Given the description of an element on the screen output the (x, y) to click on. 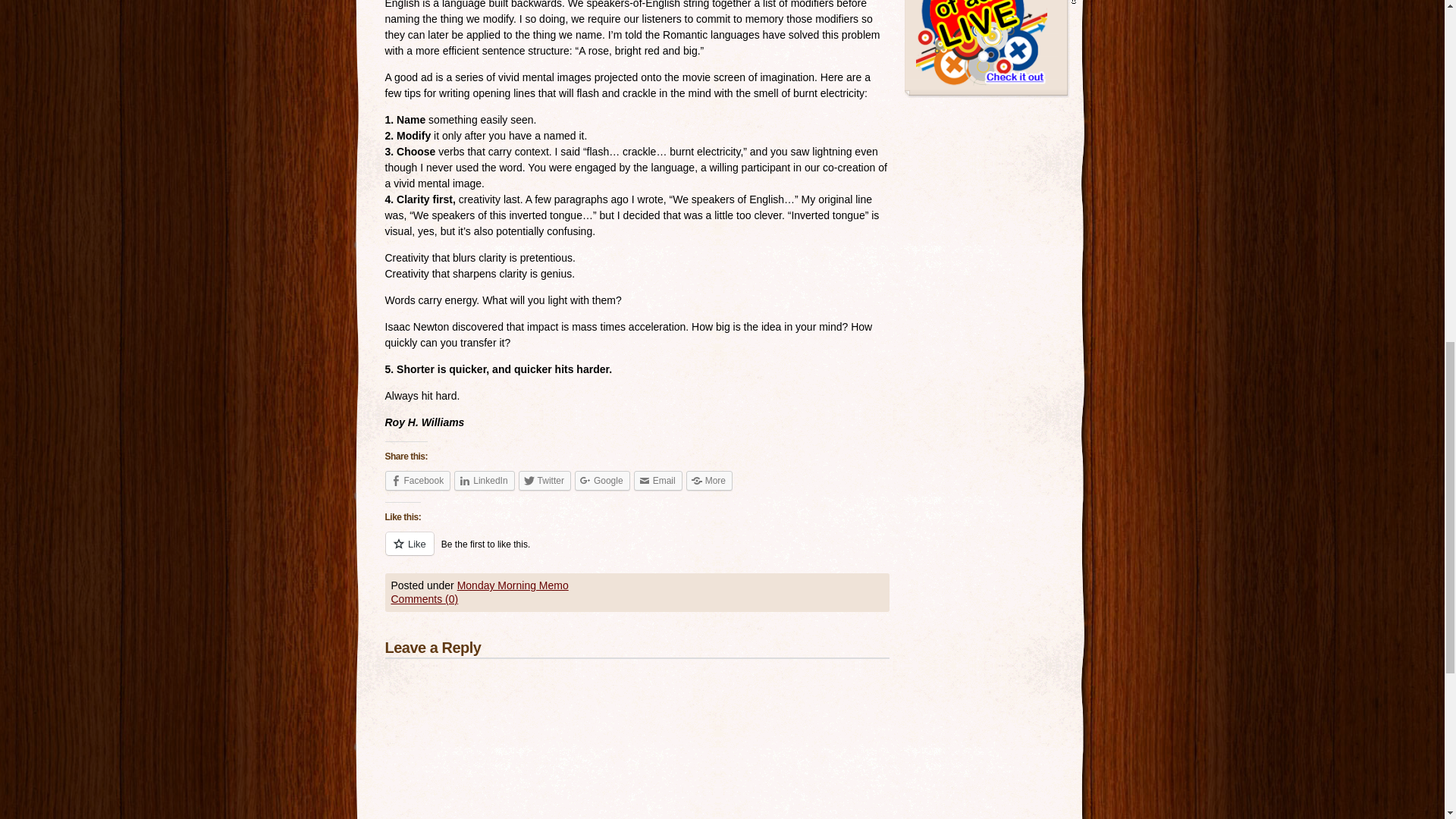
Monday Morning Memo (513, 585)
Click to share on LinkedIn (483, 480)
Google (602, 480)
Share on Facebook (418, 480)
LinkedIn (483, 480)
Click to share on Twitter (544, 480)
More (708, 480)
Facebook (418, 480)
Twitter (544, 480)
Email (657, 480)
Click to email this to a friend (657, 480)
